Given the description of an element on the screen output the (x, y) to click on. 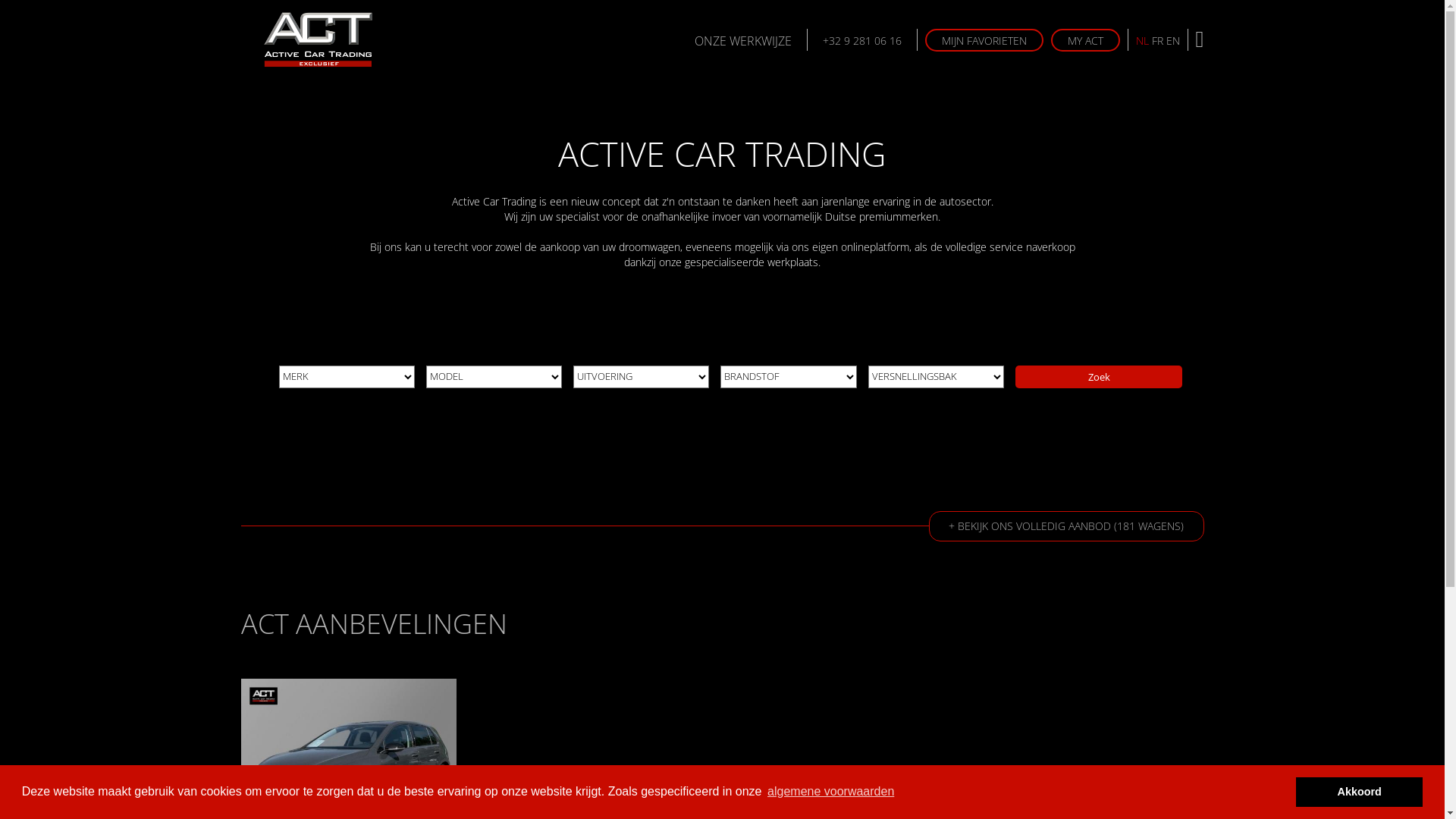
NL Element type: text (1141, 40)
EN Element type: text (1172, 40)
+ BEKIJK ONS VOLLEDIG AANBOD (181 WAGENS) Element type: text (1066, 526)
Akkoord Element type: text (1358, 791)
+32 9 281 06 16 Element type: text (862, 39)
algemene voorwaarden Element type: text (831, 791)
Zoek Element type: text (1099, 376)
MY ACT Element type: text (1085, 39)
FR Element type: text (1157, 40)
MIJN FAVORIETEN Element type: text (984, 39)
ONZE WERKWIJZE Element type: text (743, 39)
